Given the description of an element on the screen output the (x, y) to click on. 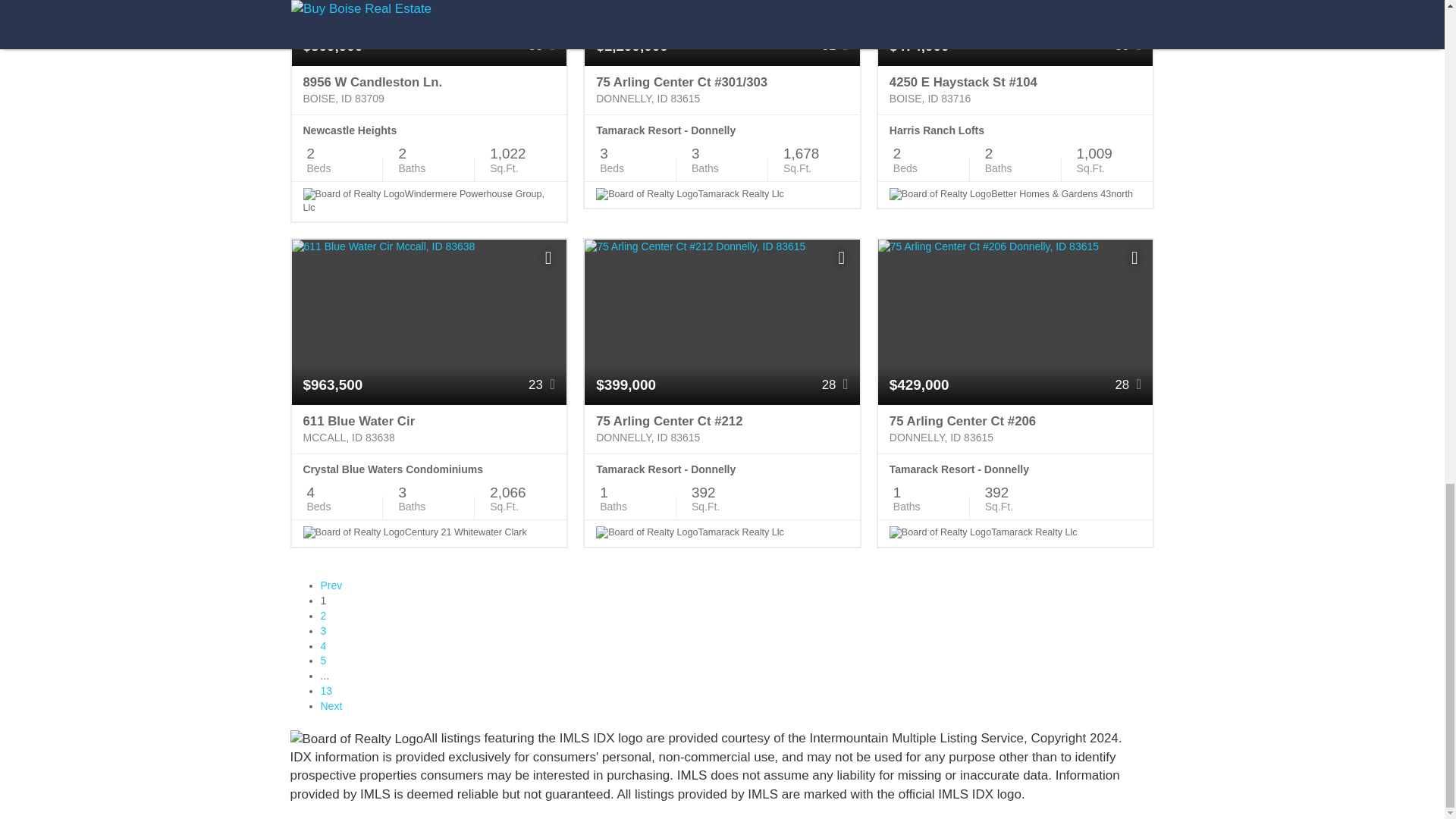
8956 W Candleston Ln. Boise,  ID 83709 (428, 90)
